Given the description of an element on the screen output the (x, y) to click on. 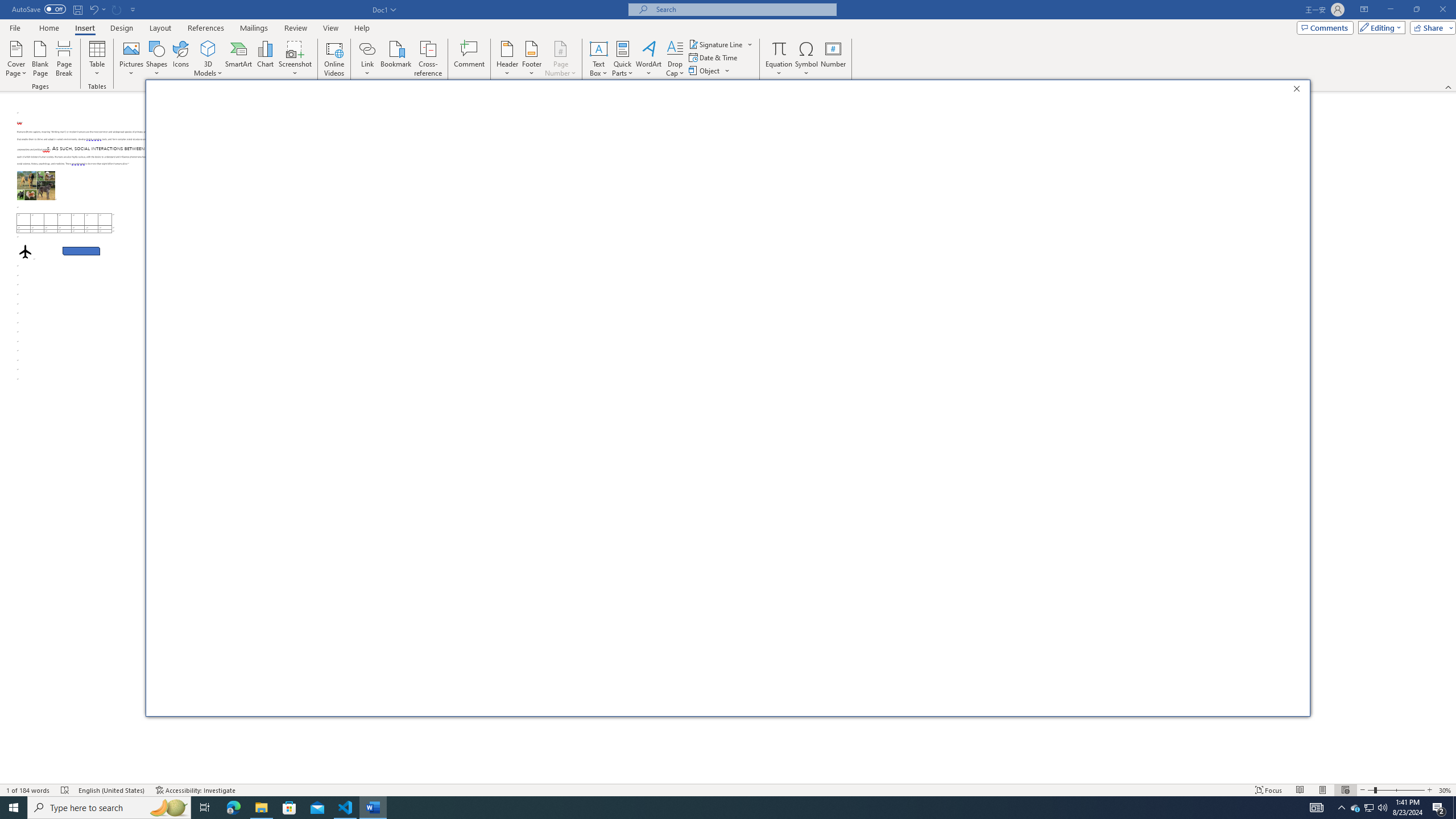
Rectangle: Diagonal Corners Snipped 2 (81, 250)
Quick Parts (622, 58)
Class: NetUIScrollBar (1450, 437)
Spelling and Grammar Check Errors (65, 790)
Icons (220, 146)
3D Models (208, 58)
Symbol (806, 58)
Shapes (156, 58)
Cutout People (271, 146)
Word Count 1 of 184 words (28, 790)
